Given the description of an element on the screen output the (x, y) to click on. 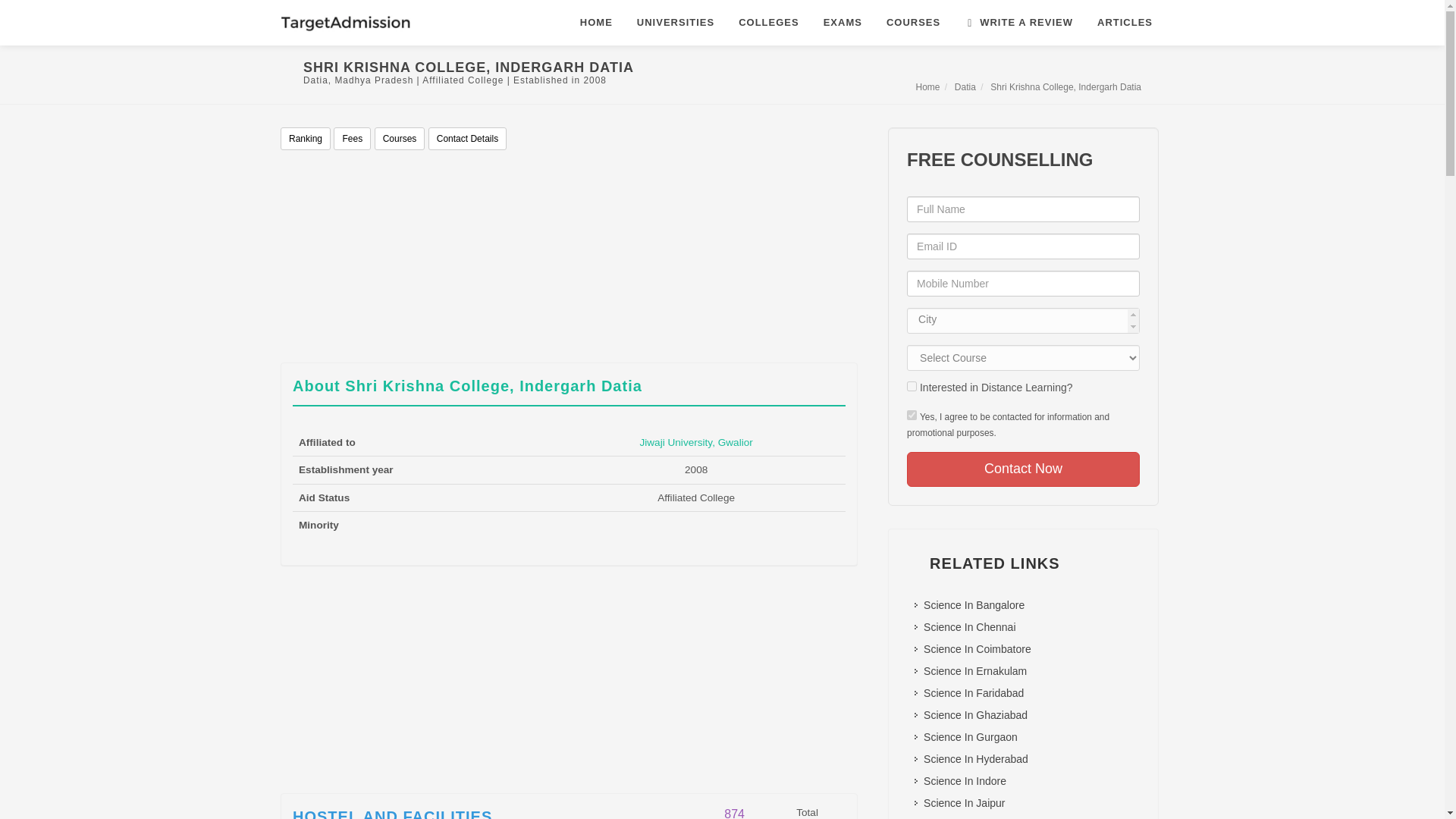
HOME (596, 22)
on (912, 386)
Fees (352, 138)
Courses (399, 138)
Home (928, 86)
Ranking (305, 138)
Shri Krishna College, Indergarh Datia (1065, 86)
Home Datia Shri Krishna College, Indergarh Datia (1028, 87)
on (912, 415)
About Shri Krishna College, Indergarh Datia (467, 385)
